Given the description of an element on the screen output the (x, y) to click on. 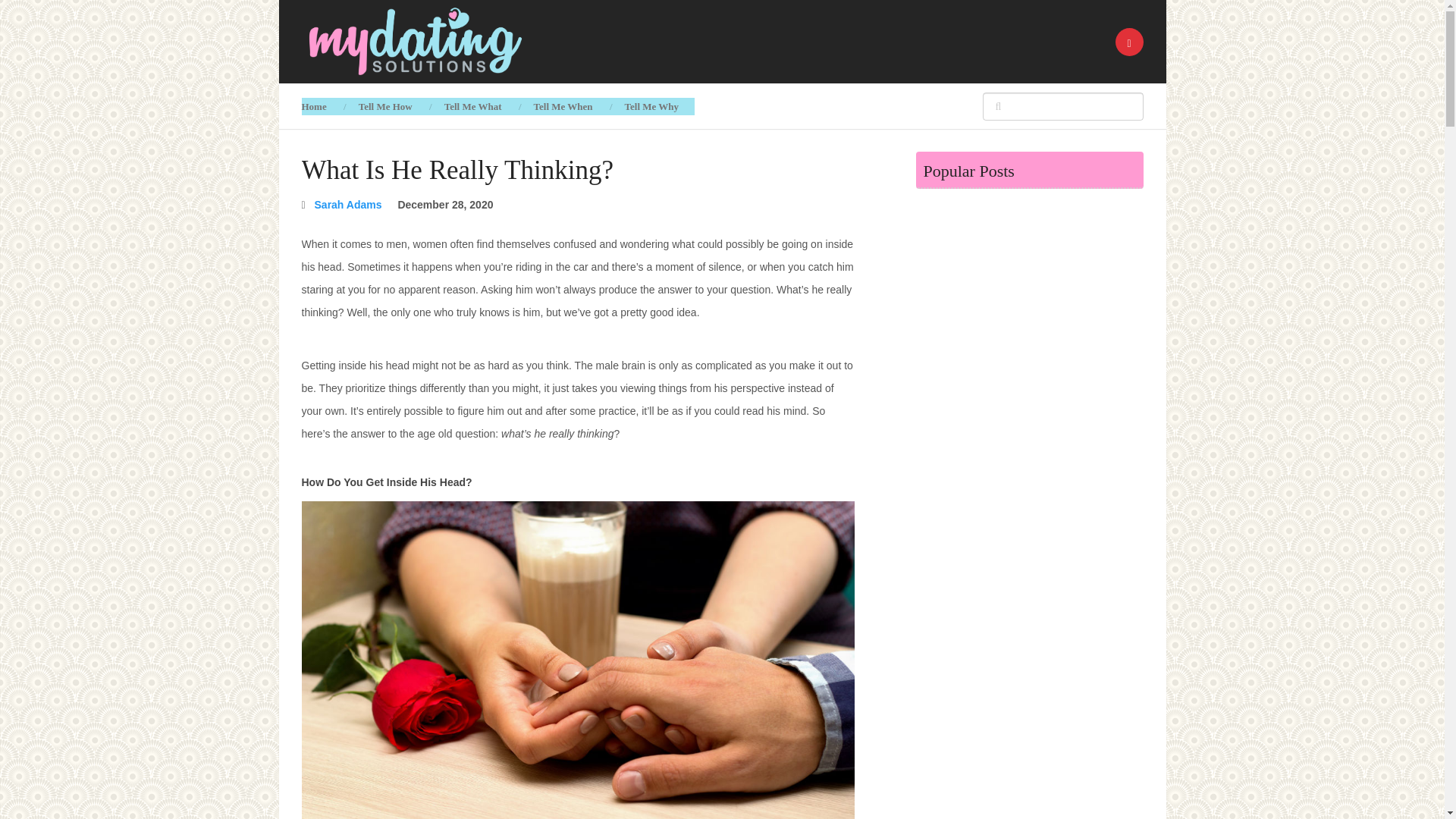
Tell Me How (385, 105)
Tell Me Why (651, 105)
Tell Me What (473, 105)
Home (321, 105)
Tell Me Why (651, 105)
Tell Me How (385, 105)
Tell Me When (563, 105)
Tell Me What (473, 105)
Tell Me When (563, 105)
Posts by Sarah Adams (347, 204)
Sarah Adams (347, 204)
